Given the description of an element on the screen output the (x, y) to click on. 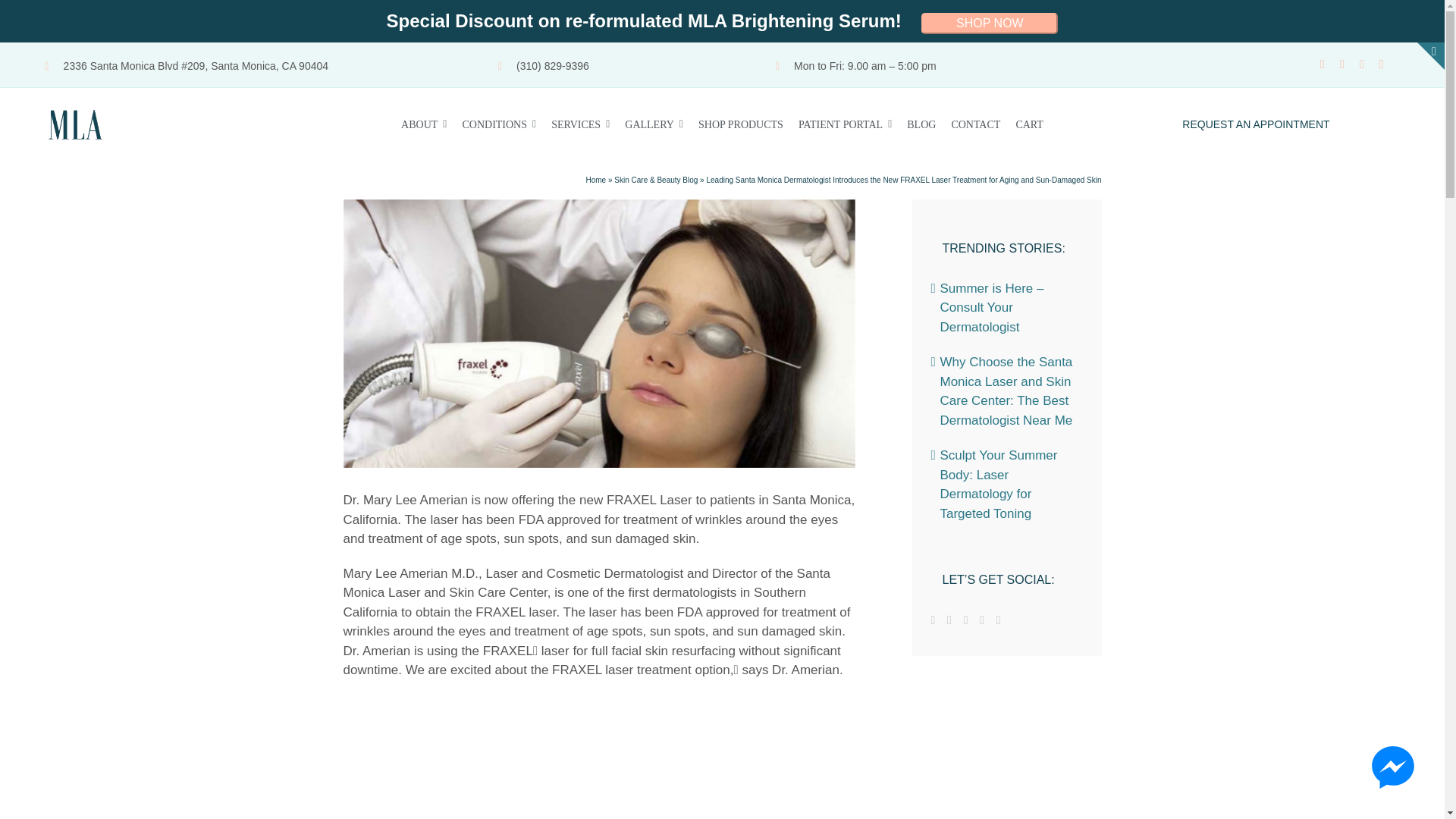
CONDITIONS (498, 124)
SHOP NOW (989, 20)
services (580, 124)
ABOUT (423, 124)
SERVICES (580, 124)
SHOP NOW (989, 23)
